Given the description of an element on the screen output the (x, y) to click on. 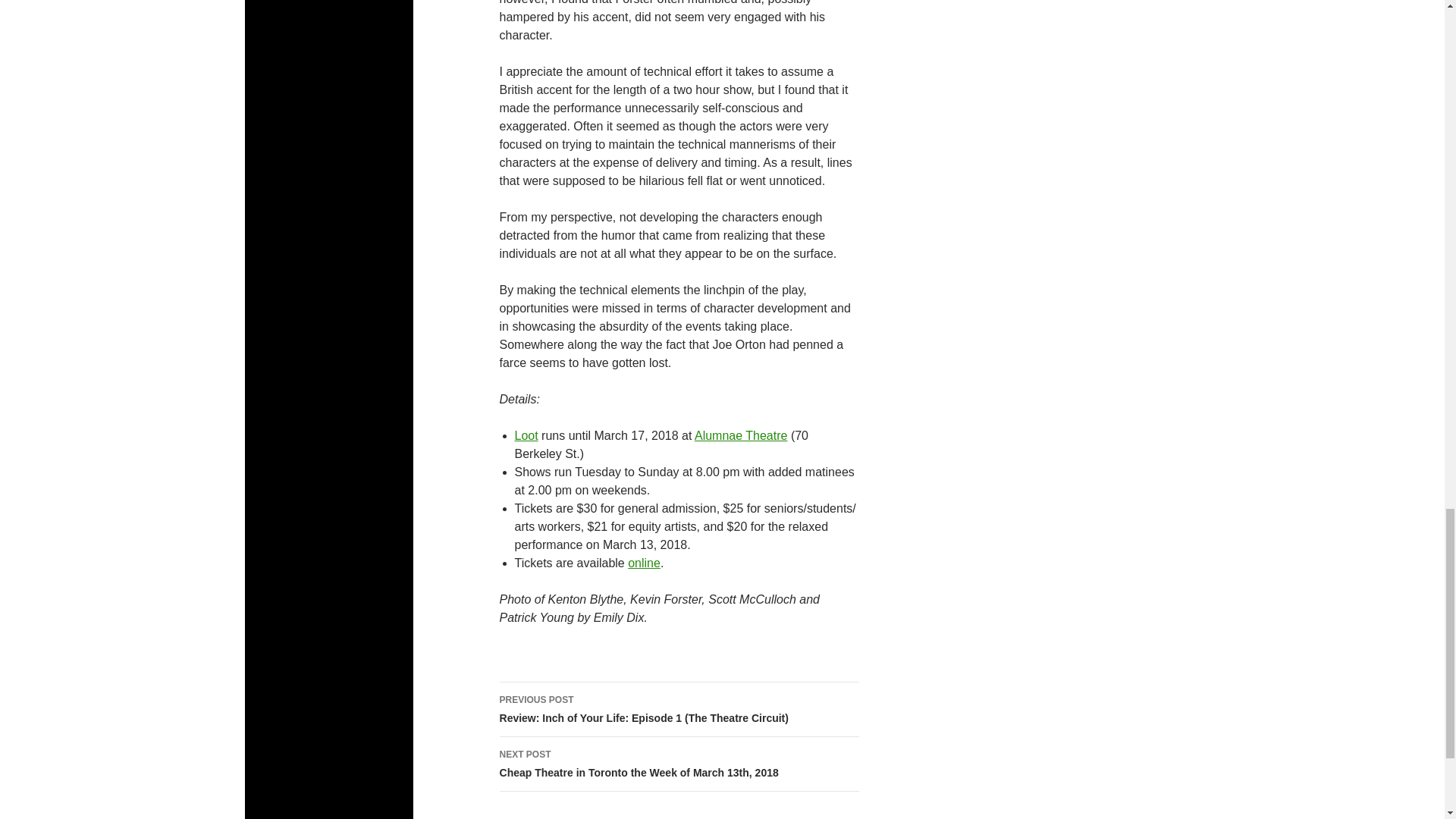
Loot (525, 435)
online (644, 562)
Alumnae Theatre (740, 435)
